Given the description of an element on the screen output the (x, y) to click on. 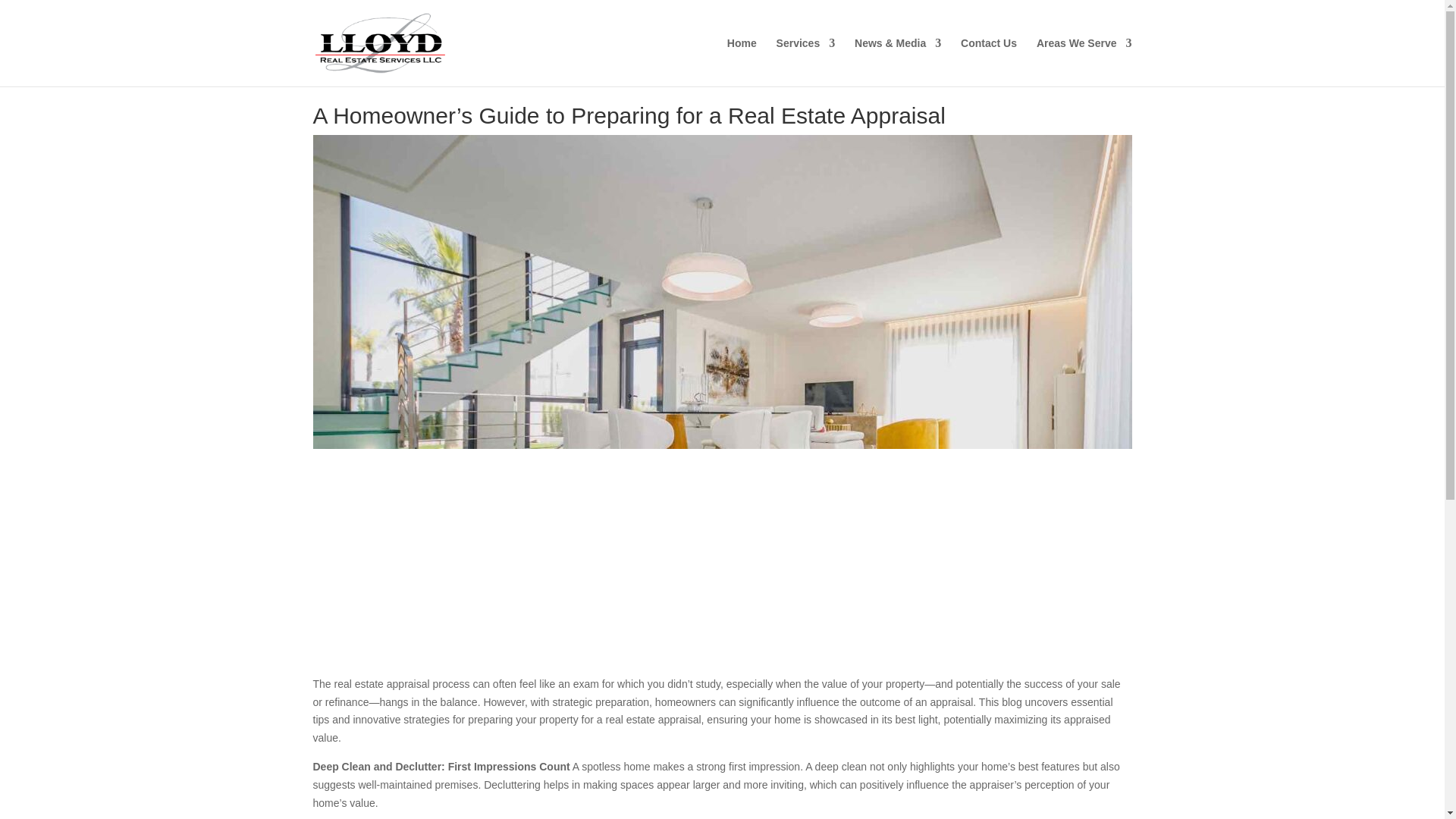
Contact Us (988, 61)
Services (805, 61)
Areas We Serve (1084, 61)
